Given the description of an element on the screen output the (x, y) to click on. 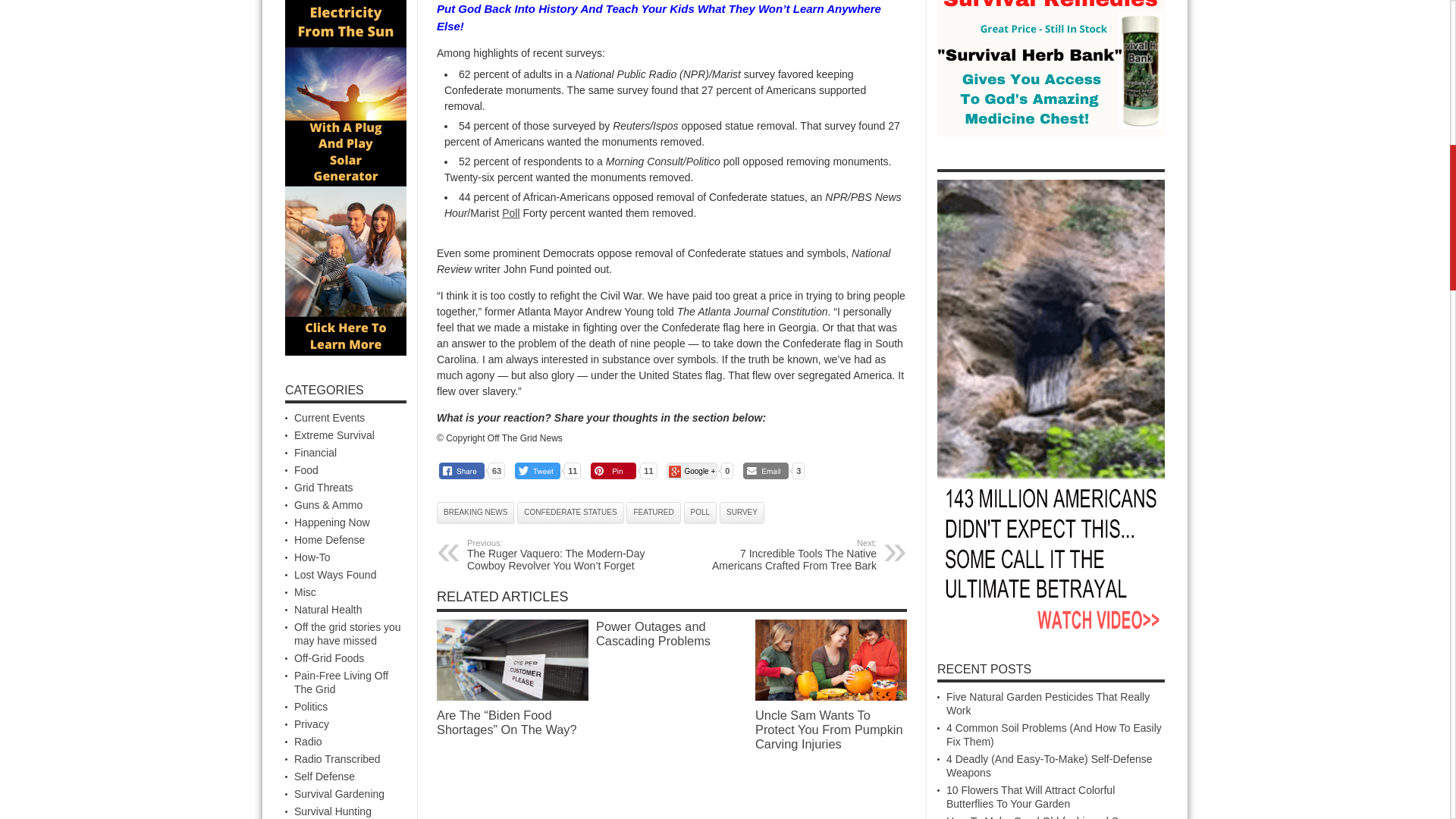
Uncle Sam Wants To Protect You From Pumpkin Carving Injuries (831, 660)
CONFEDERATE STATUES (569, 512)
Poll (510, 213)
POLL (700, 512)
Permalink to Power Outages and Cascading Problems (652, 633)
FEATURED (652, 512)
BREAKING NEWS (474, 512)
